Given the description of an element on the screen output the (x, y) to click on. 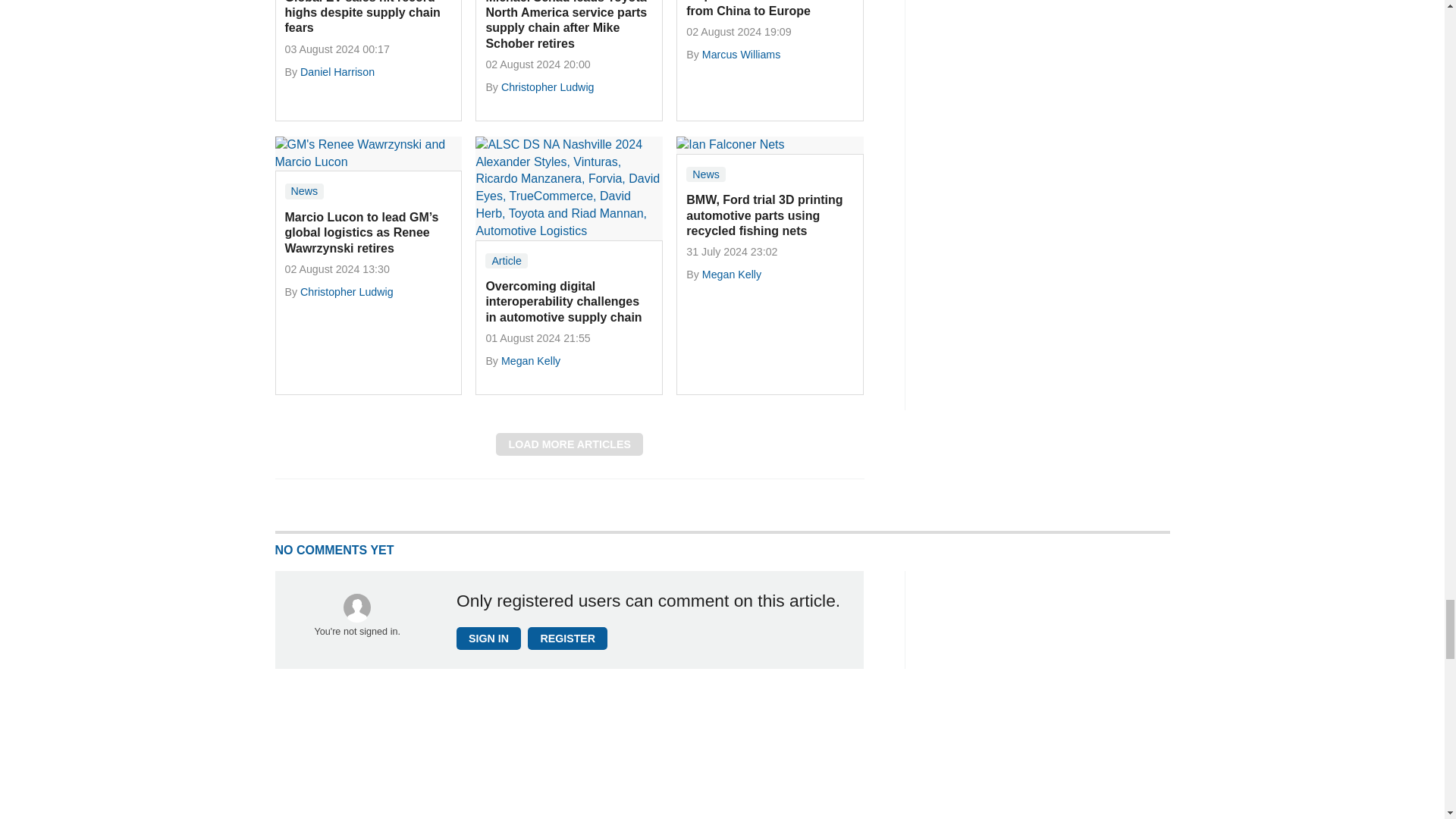
3rd party ad content (1055, 694)
3rd party ad content (1055, 53)
